Given the description of an element on the screen output the (x, y) to click on. 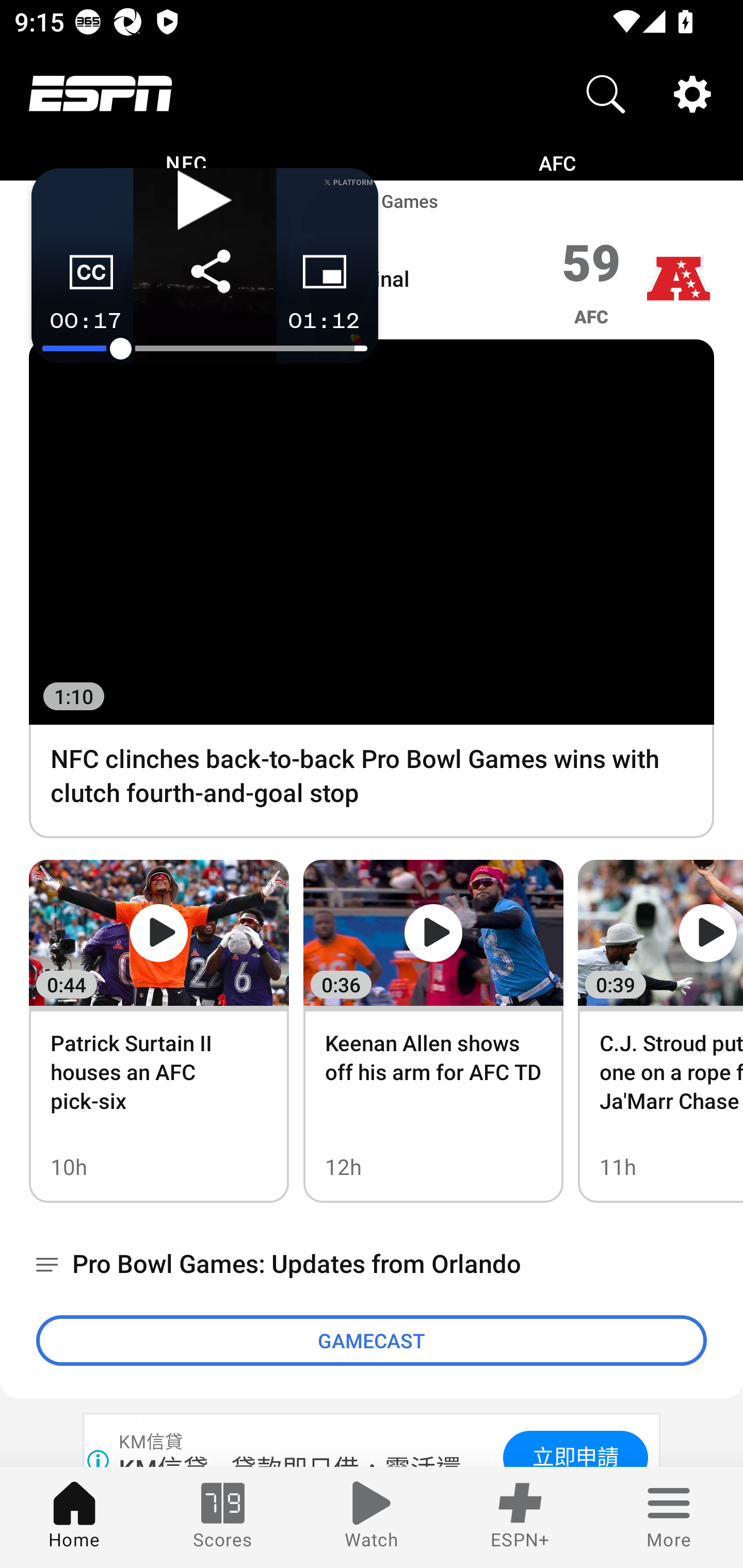
Search (605, 93)
Settings (692, 93)
 Pro Bowl Games: Updates from Orlando (371, 1264)
GAMECAST (371, 1340)
KM信貸 (151, 1441)
立即申請 (575, 1448)
Scores (222, 1517)
Watch (371, 1517)
ESPN+ (519, 1517)
More (668, 1517)
